Given the description of an element on the screen output the (x, y) to click on. 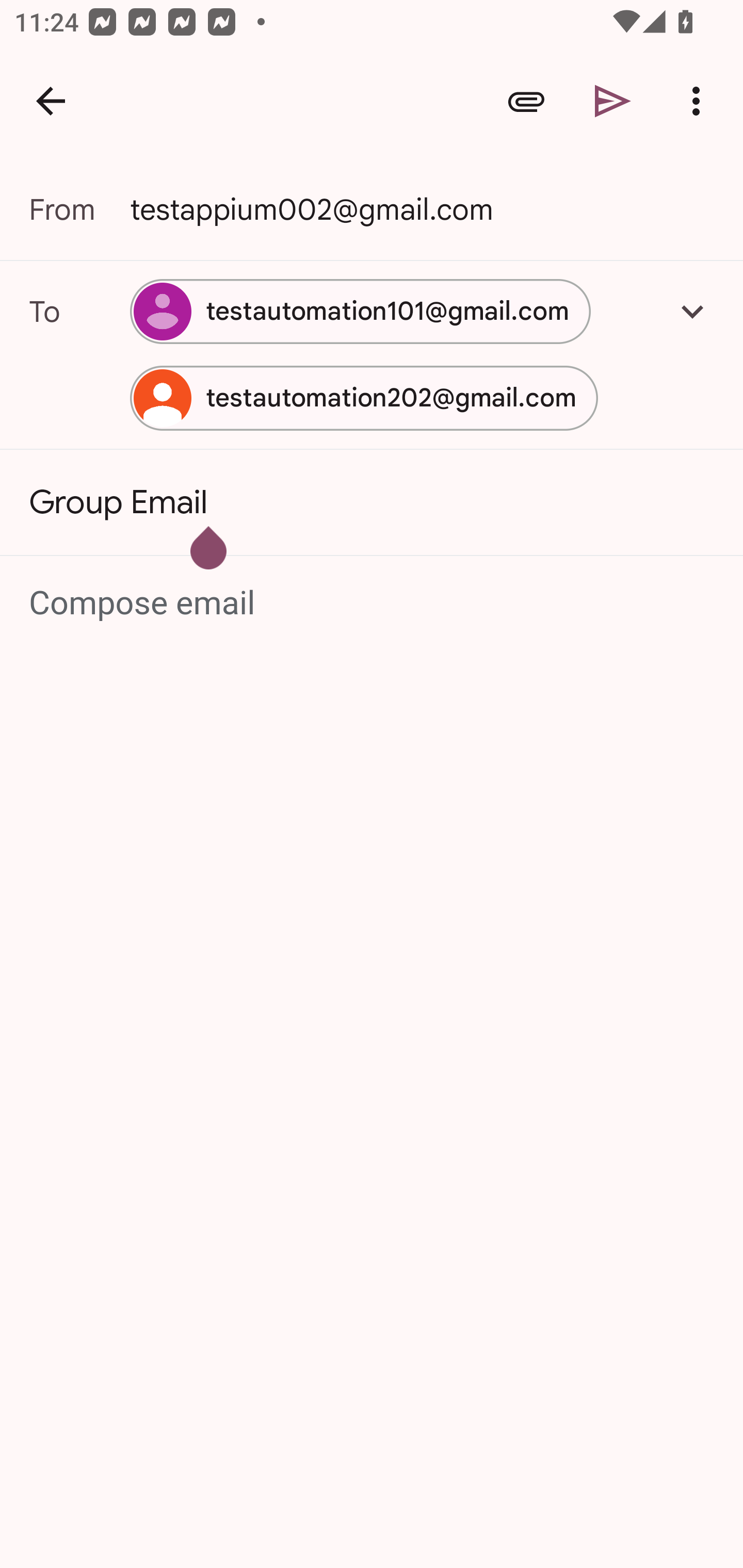
Navigate up (50, 101)
Attach file (525, 101)
Send (612, 101)
More options (699, 101)
From (79, 209)
Add Cc/Bcc (692, 311)
Group Email (371, 502)
Compose email (372, 603)
